Given the description of an element on the screen output the (x, y) to click on. 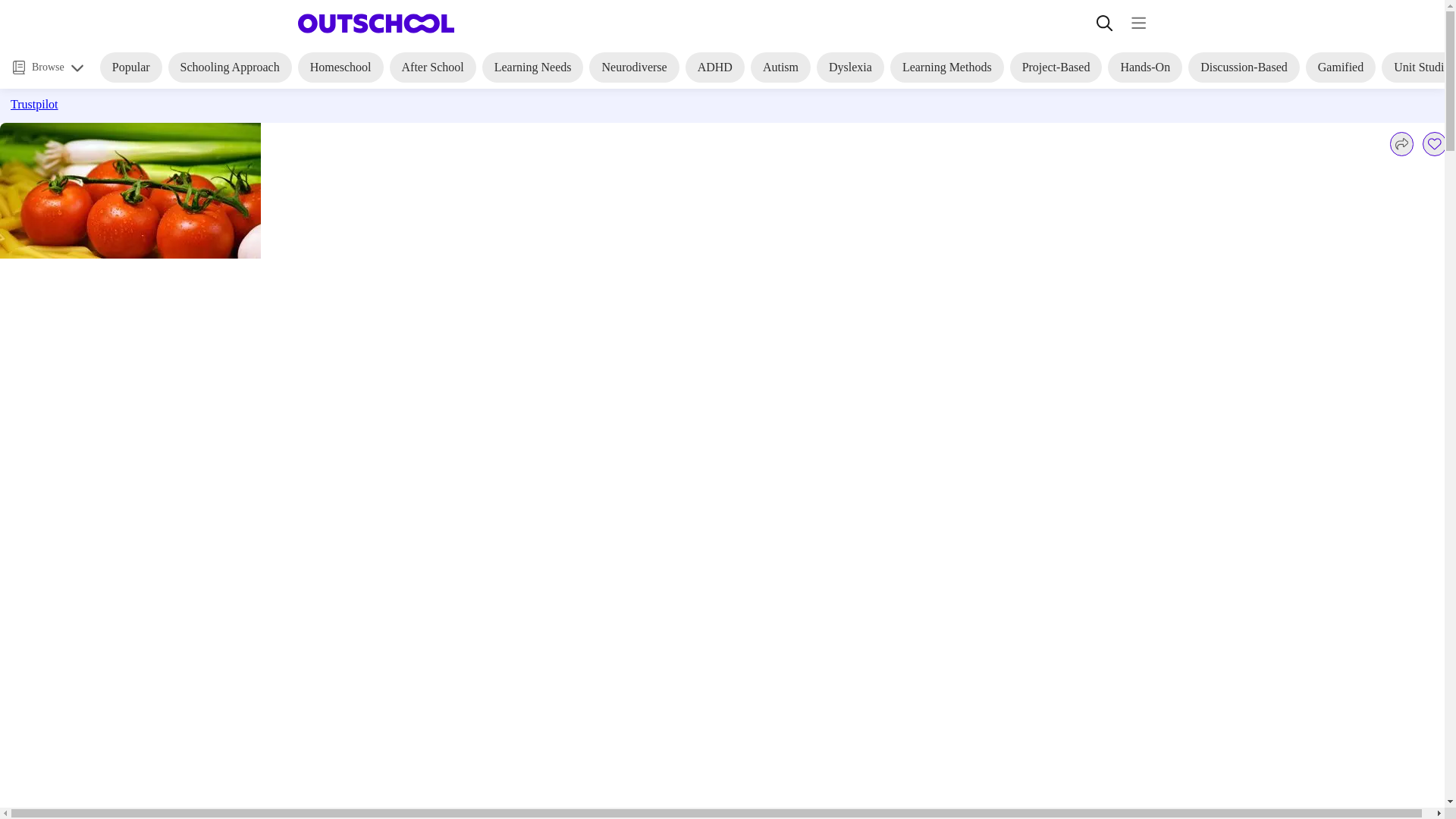
Dyslexia (849, 67)
Autism (780, 67)
Learning Needs (532, 67)
Gamified (1340, 67)
Trustpilot reviews (169, 106)
Hands-On (1145, 67)
Neurodiverse (633, 67)
Popular (130, 67)
ADHD (714, 67)
Browse (48, 66)
